Given the description of an element on the screen output the (x, y) to click on. 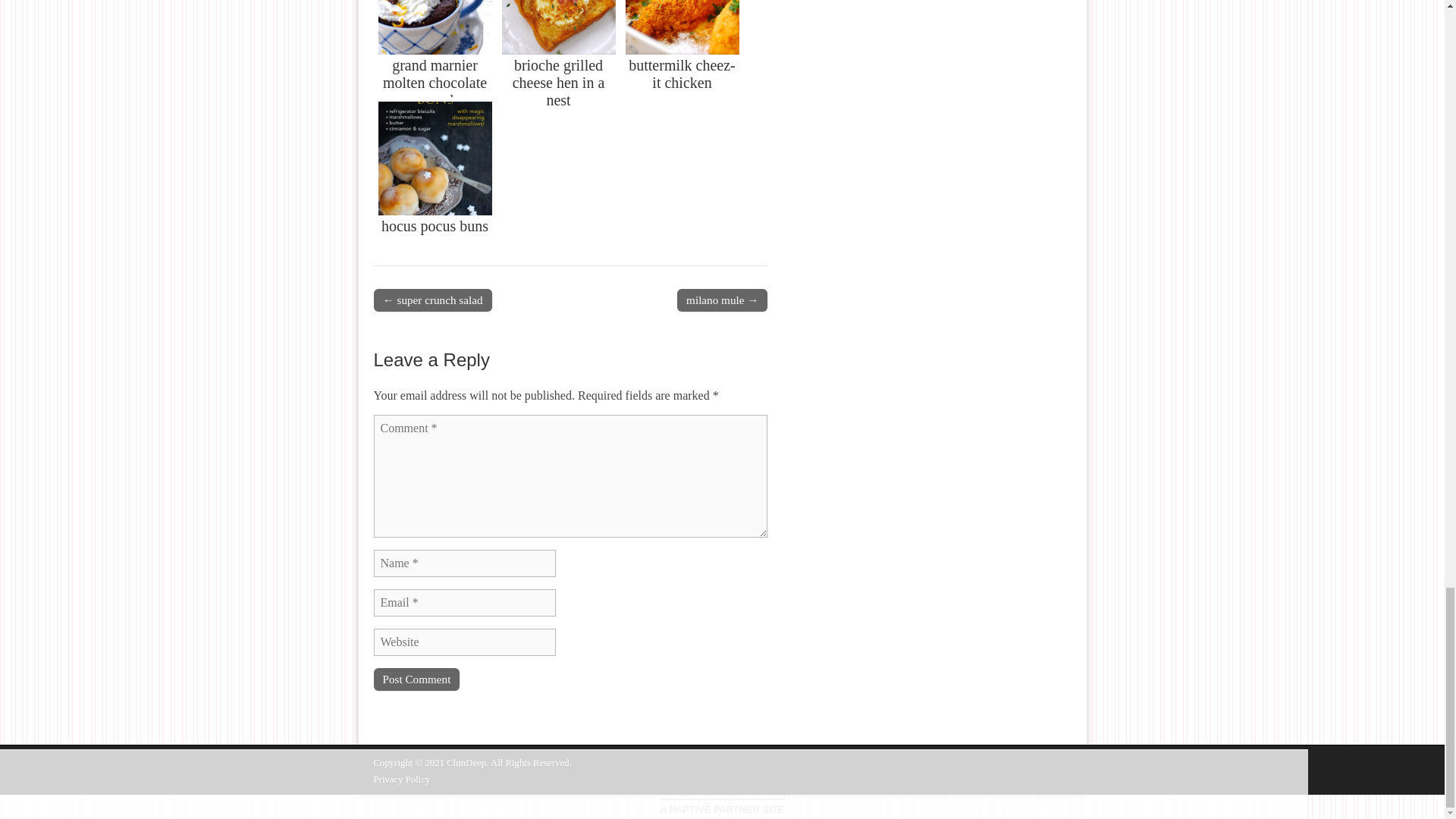
Post Comment (416, 679)
Post Comment (416, 679)
grand marnier molten chocolate mug cake (434, 48)
buttermilk cheez-it chicken (682, 48)
brioche grilled cheese hen in a nest (559, 48)
